Given the description of an element on the screen output the (x, y) to click on. 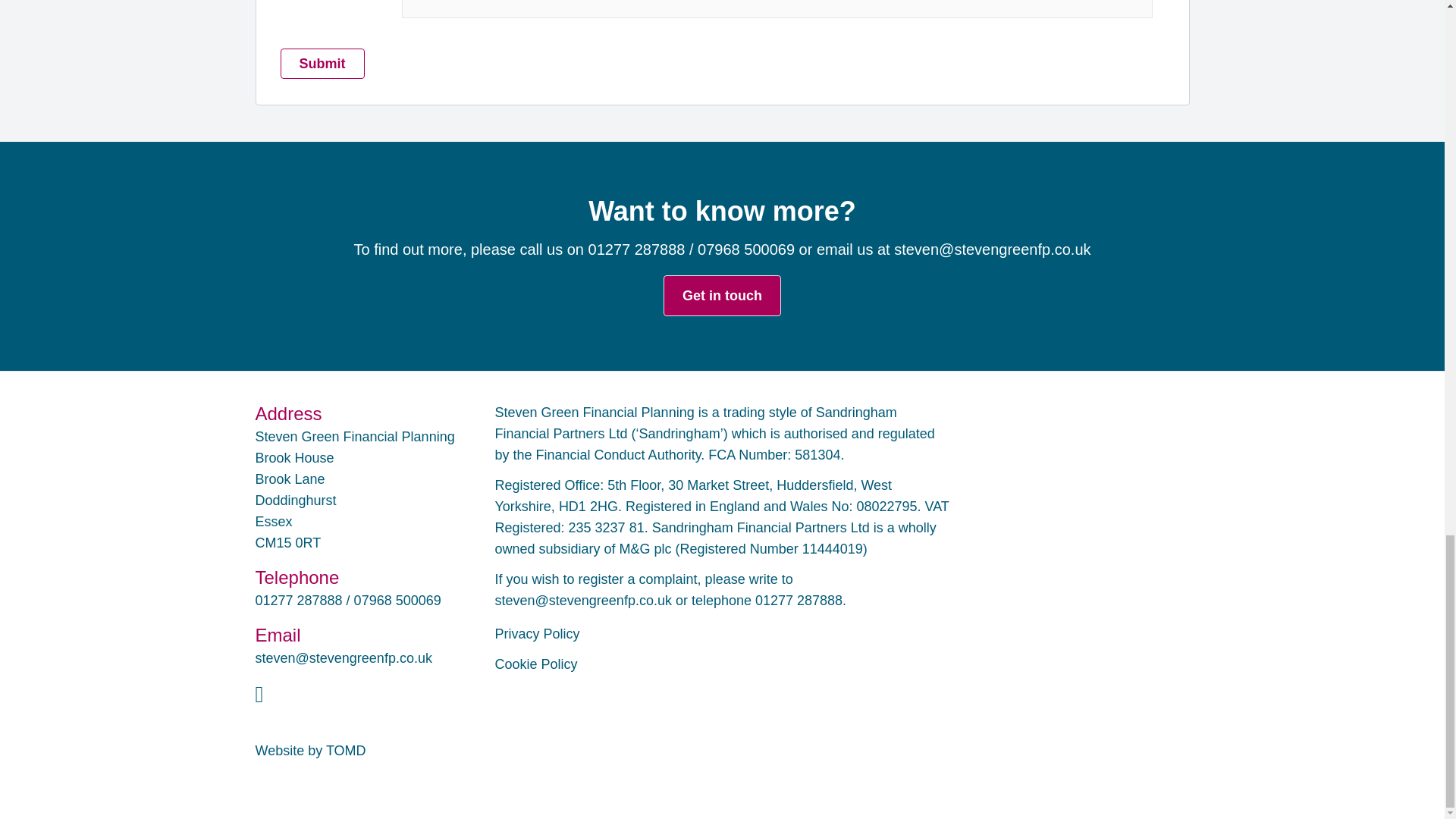
Submit (323, 63)
Submit (323, 63)
